Given the description of an element on the screen output the (x, y) to click on. 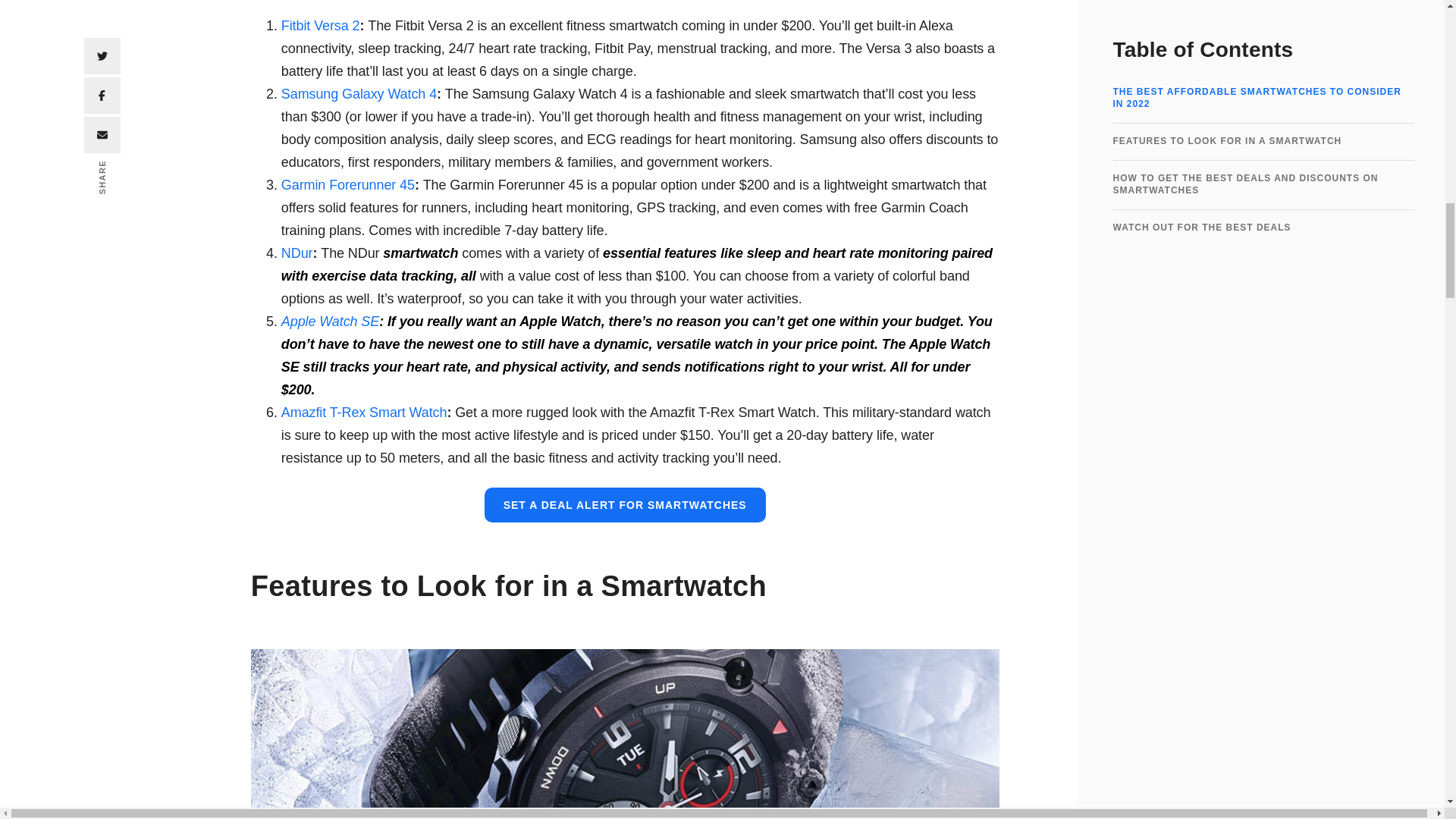
Apple Watch SE (329, 321)
SET A DEAL ALERT FOR SMARTWATCHES (624, 503)
Samsung Galaxy Watch 4 (358, 93)
Fitbit Versa 2 (320, 25)
NDur (297, 253)
Garmin Forerunner 45 (347, 184)
Amazfit T-Rex Smart Watch (363, 412)
